Given the description of an element on the screen output the (x, y) to click on. 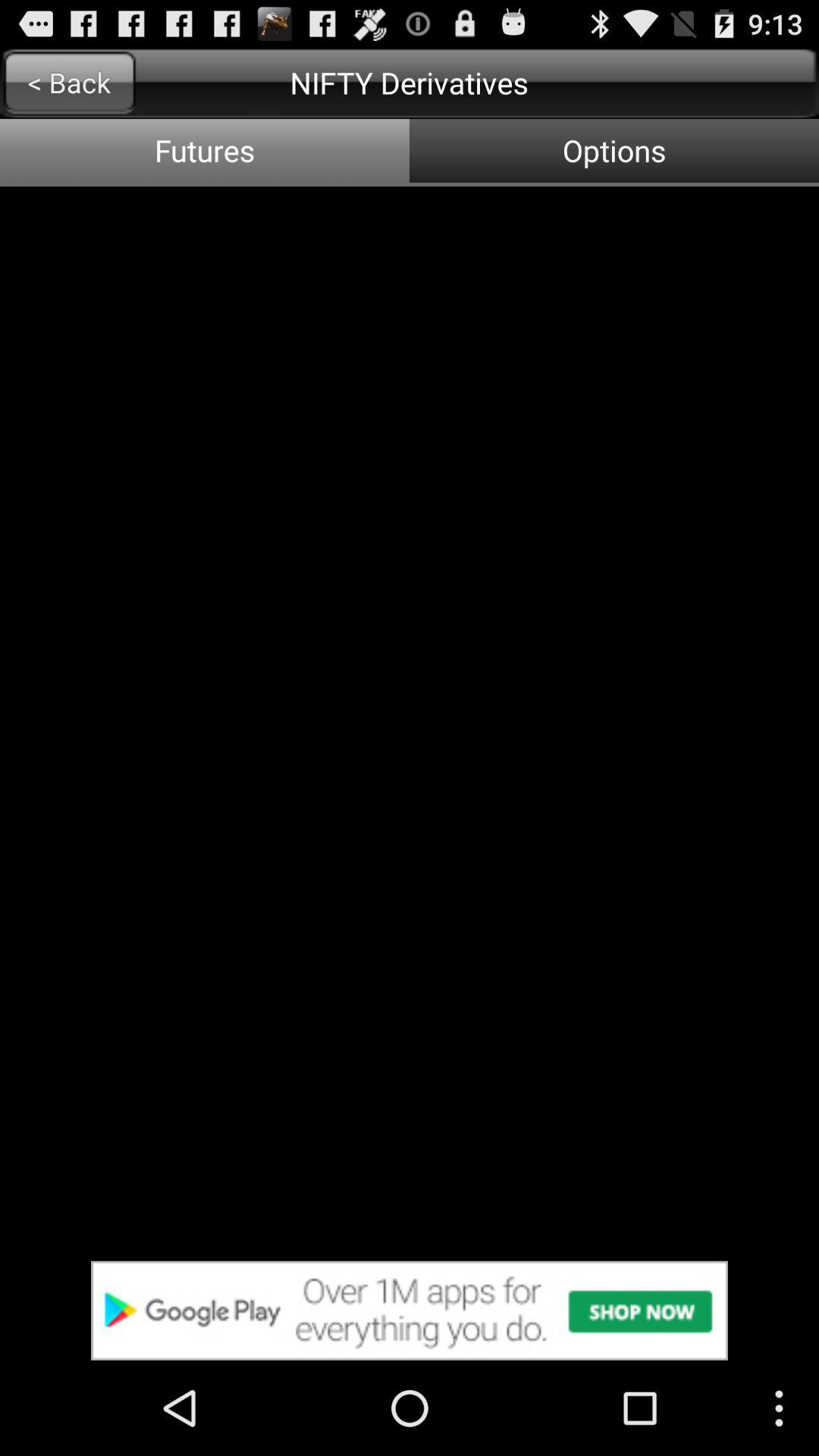
select advertisement (409, 1310)
